Given the description of an element on the screen output the (x, y) to click on. 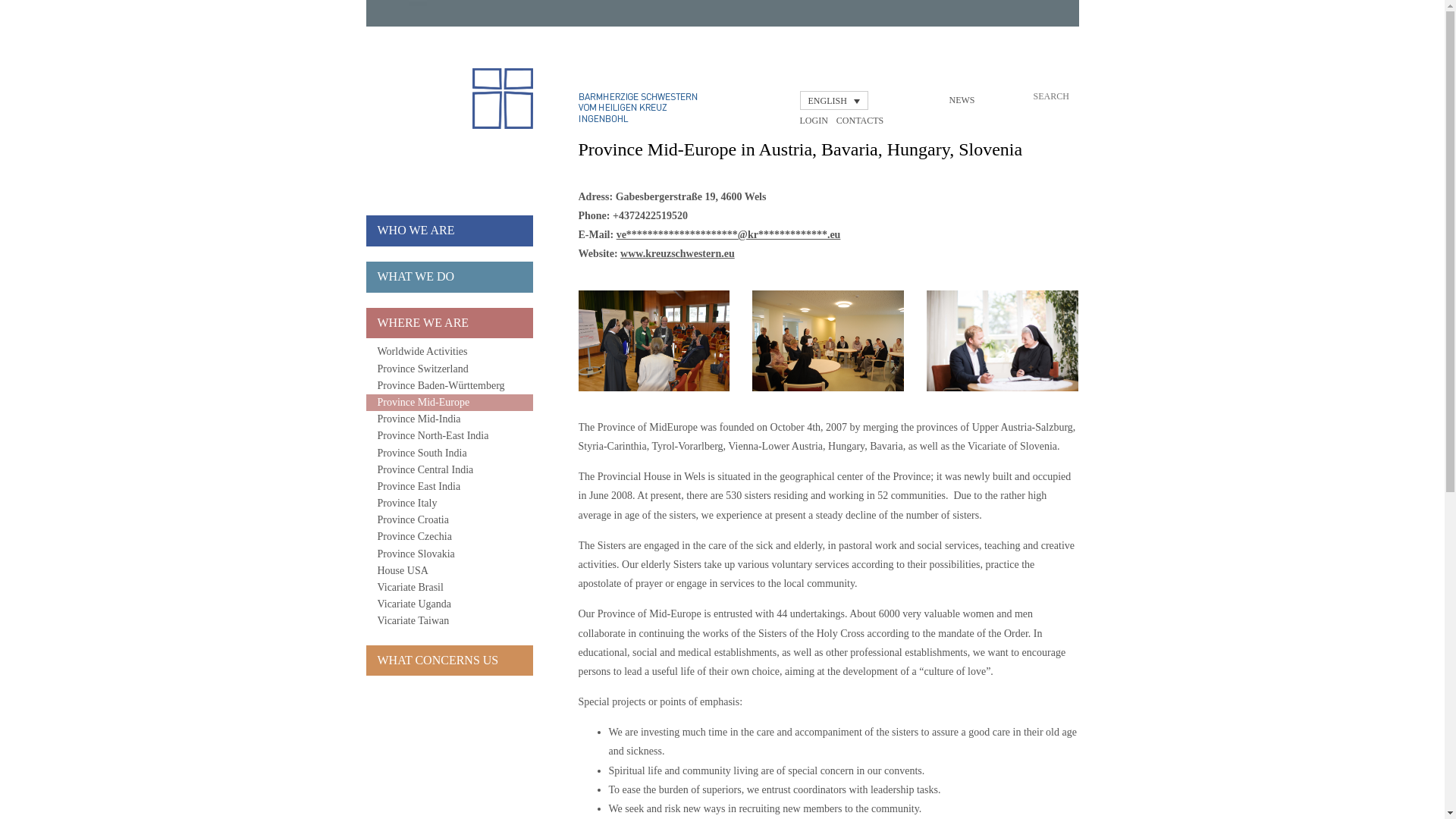
Province Czechia (448, 536)
House USA (448, 570)
www.kreuzschwestern.eu (677, 253)
WHO WE ARE (448, 230)
WHERE WE ARE (448, 323)
Vicariate Brasil (448, 587)
Province Mid-India (448, 419)
Worldwide Activities (448, 351)
Province Slovakia (448, 554)
Vicariate Uganda (448, 604)
